Given the description of an element on the screen output the (x, y) to click on. 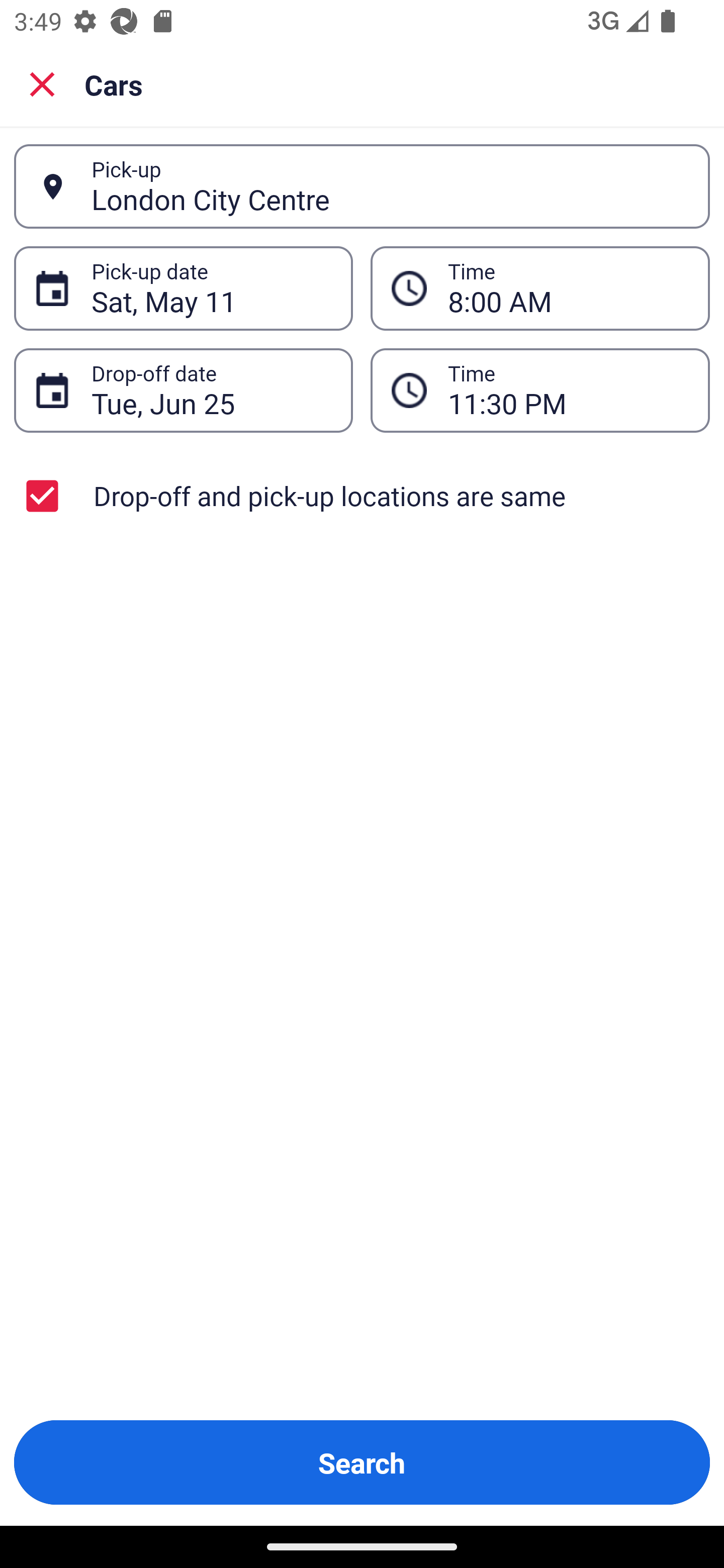
Close search screen (41, 83)
London City Centre Pick-up (361, 186)
London City Centre (389, 186)
Sat, May 11 Pick-up date (183, 288)
8:00 AM (540, 288)
Sat, May 11 (211, 288)
8:00 AM (568, 288)
Tue, Jun 25 Drop-off date (183, 390)
11:30 PM (540, 390)
Tue, Jun 25 (211, 390)
11:30 PM (568, 390)
Drop-off and pick-up locations are same (361, 495)
Search Button Search (361, 1462)
